Given the description of an element on the screen output the (x, y) to click on. 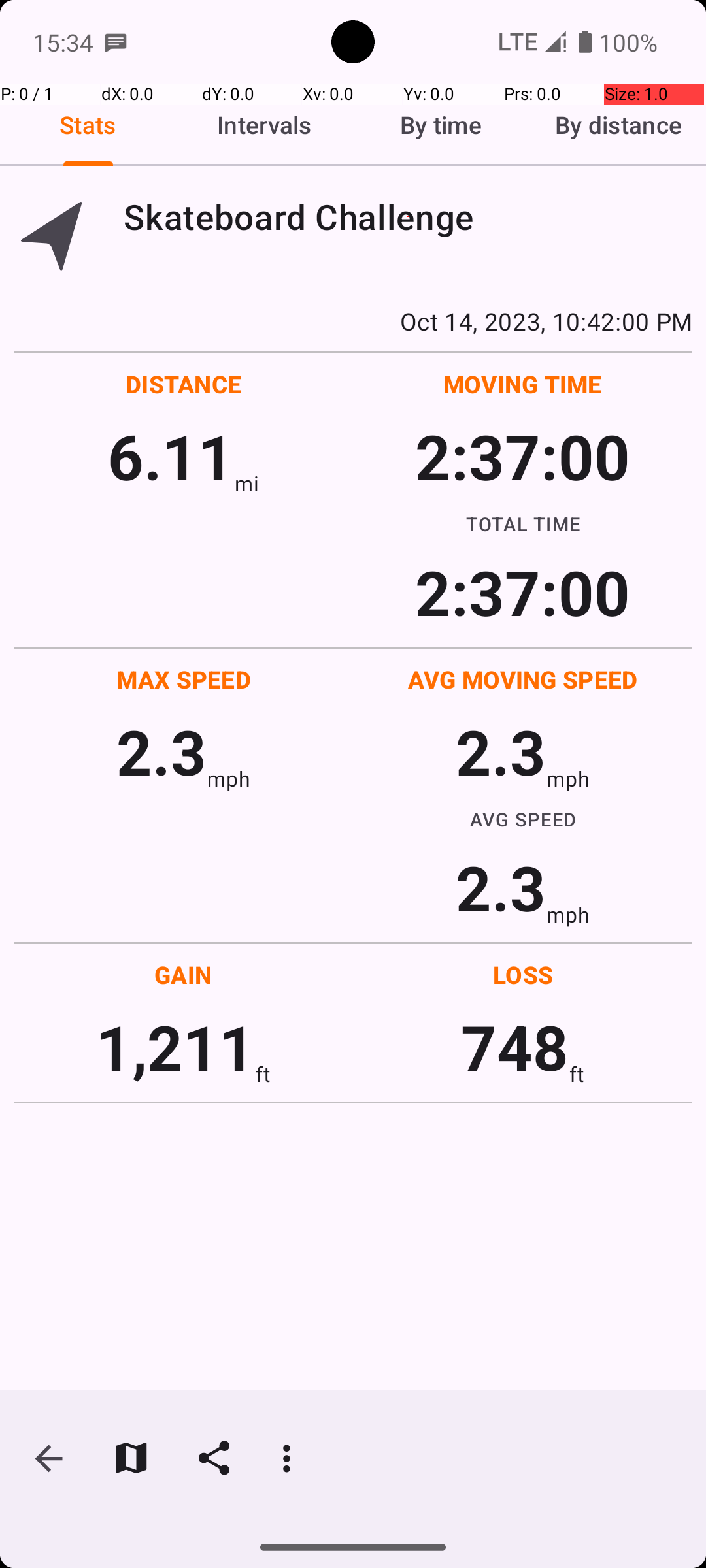
Skateboard Challenge Element type: android.widget.TextView (407, 216)
Oct 14, 2023, 10:42:00 PM Element type: android.widget.TextView (352, 320)
6.11 Element type: android.widget.TextView (170, 455)
2:37:00 Element type: android.widget.TextView (522, 455)
2.3 Element type: android.widget.TextView (161, 750)
1,211 Element type: android.widget.TextView (175, 1045)
748 Element type: android.widget.TextView (514, 1045)
